Given the description of an element on the screen output the (x, y) to click on. 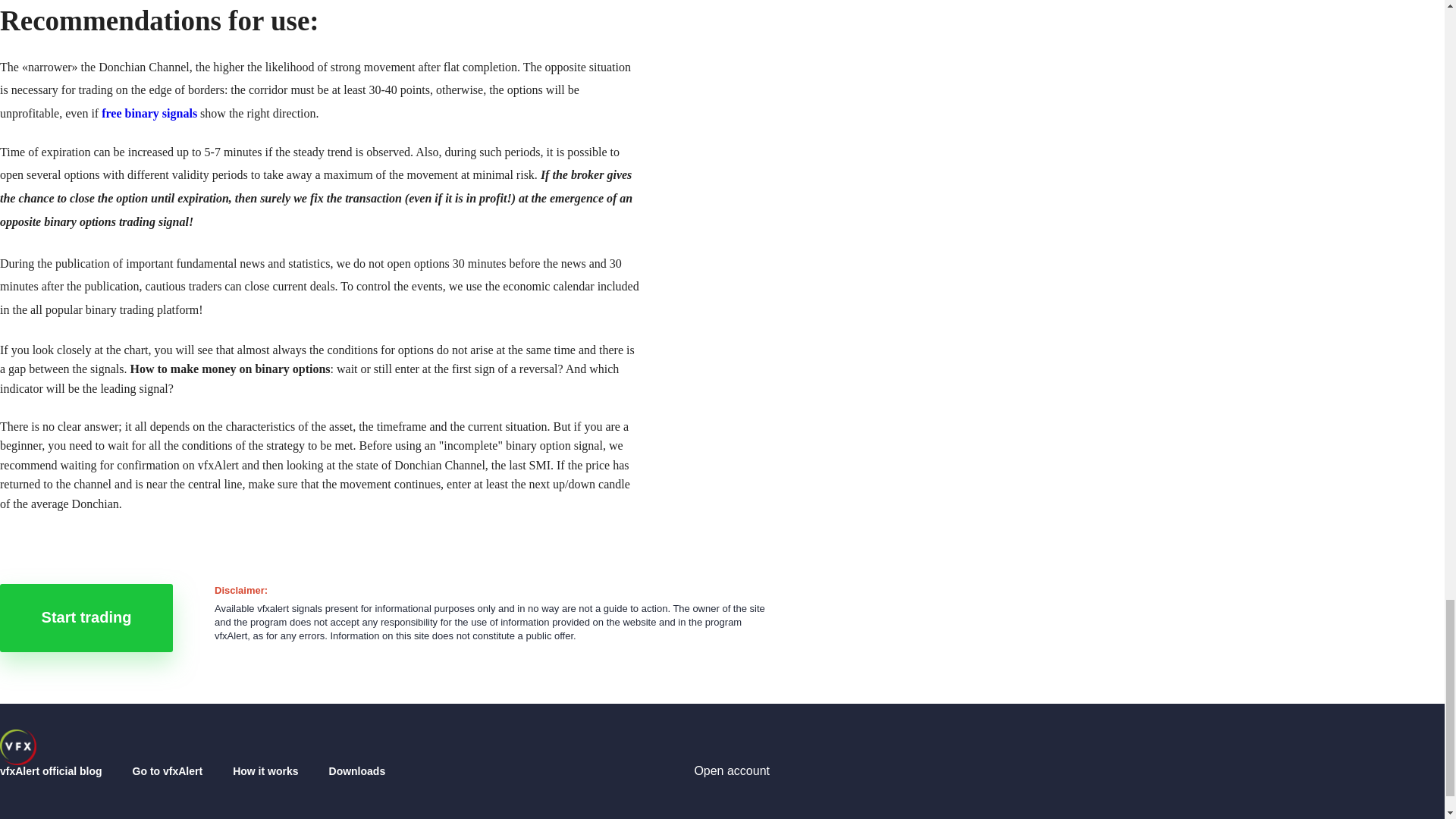
vfxAlert official blog (18, 746)
